Given the description of an element on the screen output the (x, y) to click on. 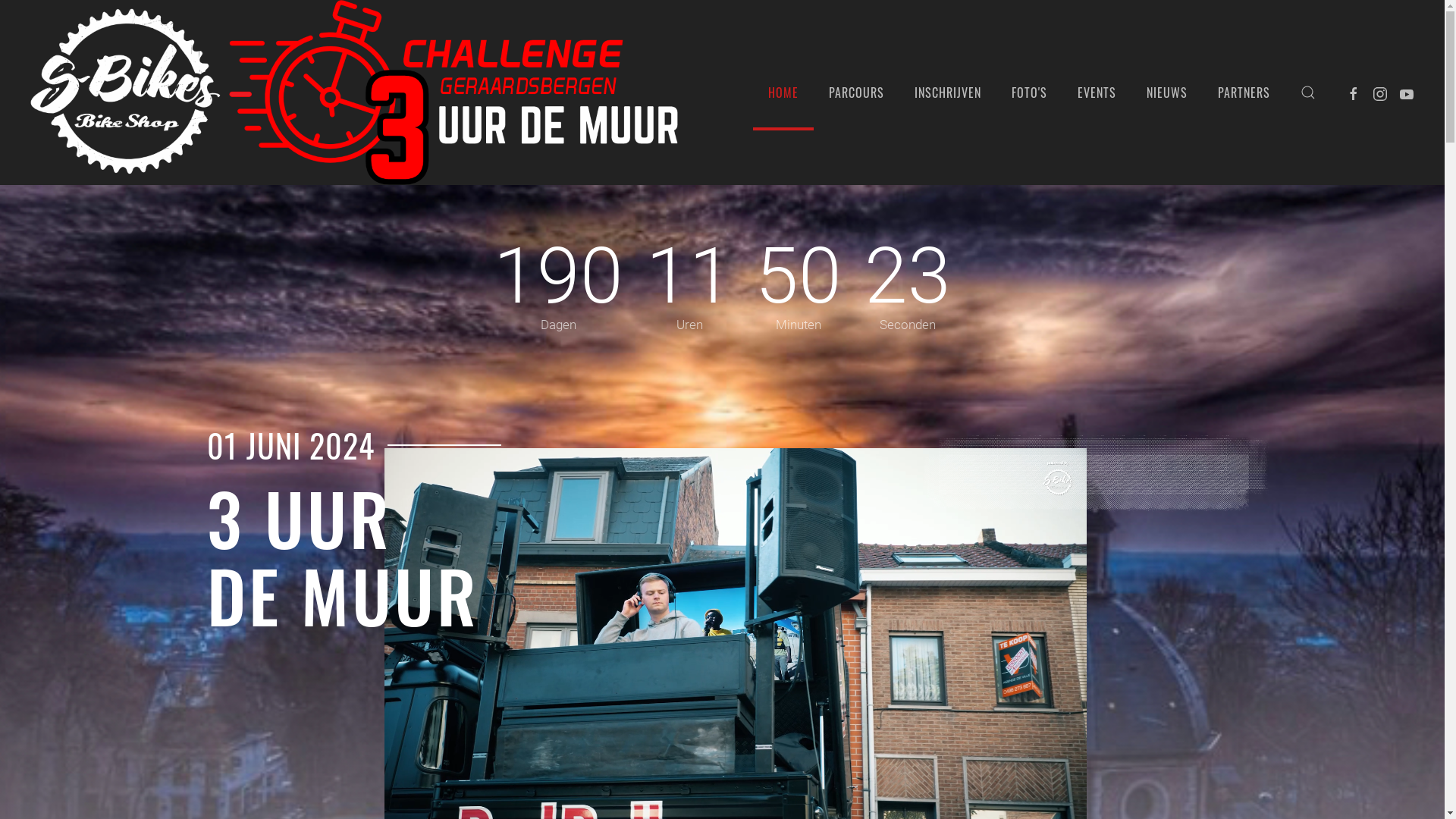
HOME Element type: text (783, 92)
NIEUWS Element type: text (1166, 92)
INSCHRIJVEN Element type: text (947, 92)
PARTNERS Element type: text (1243, 92)
EVENTS Element type: text (1096, 92)
PARCOURS Element type: text (856, 92)
FOTO'S Element type: text (1029, 92)
